Given the description of an element on the screen output the (x, y) to click on. 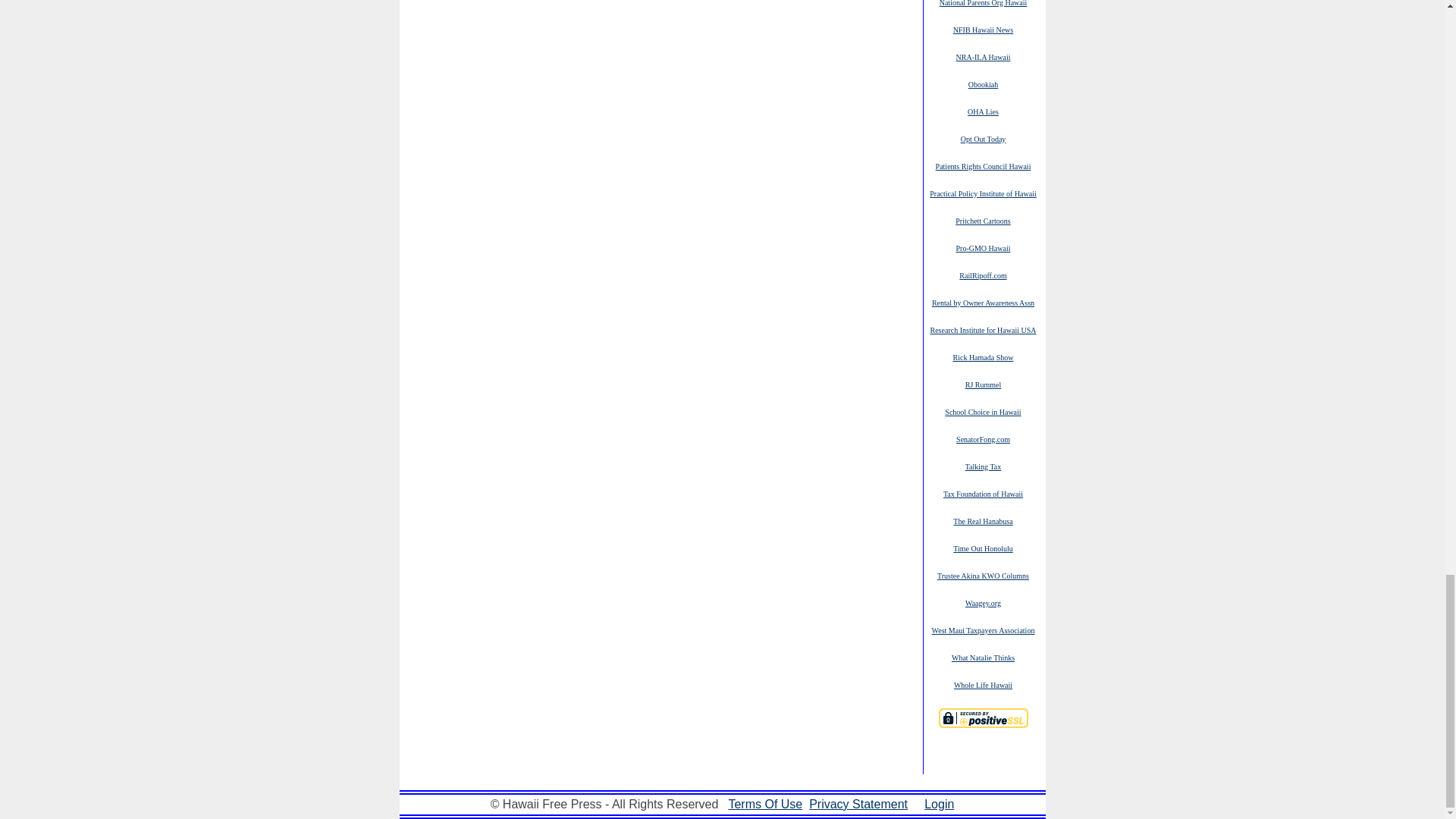
Login (938, 803)
